Given the description of an element on the screen output the (x, y) to click on. 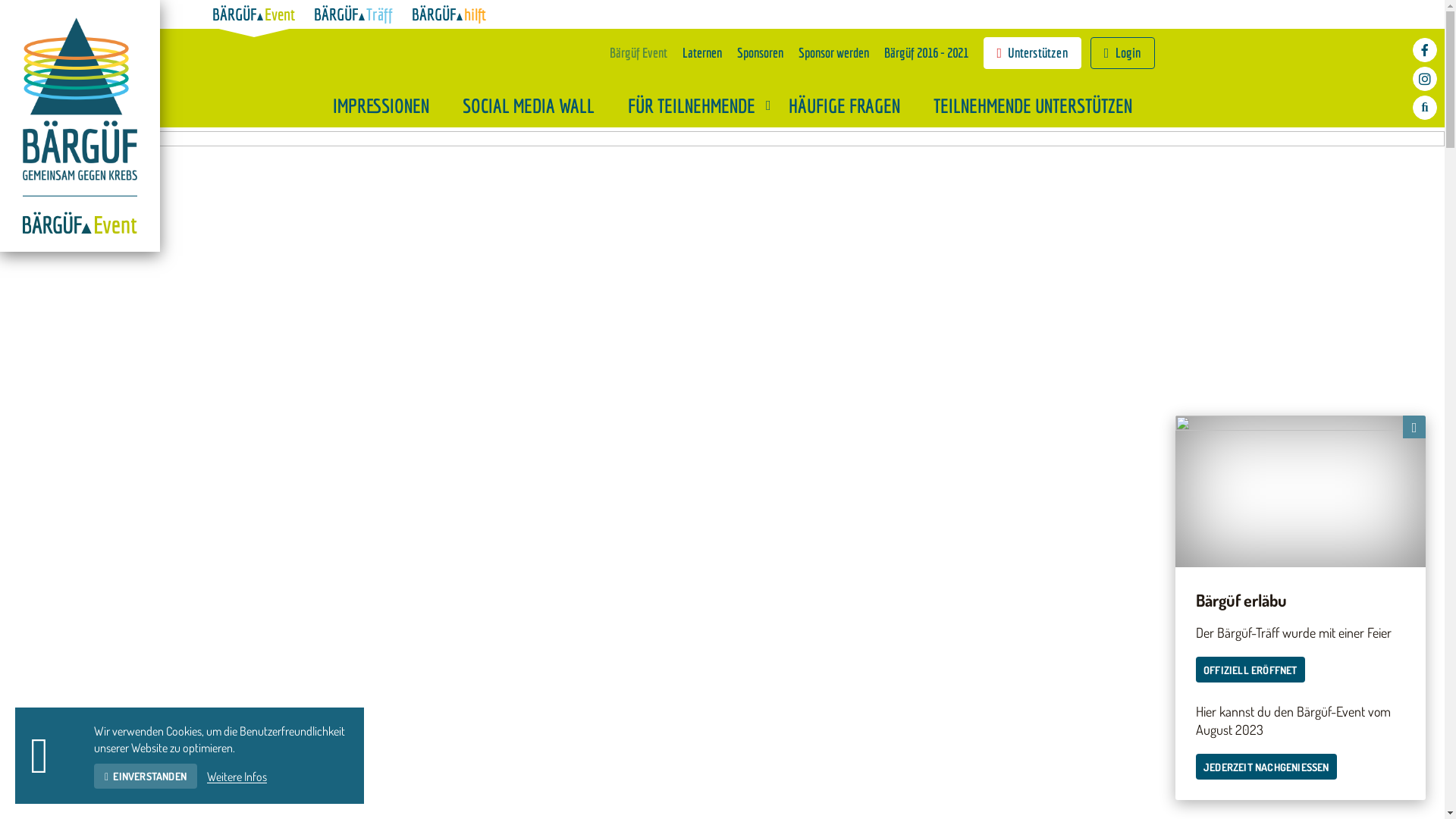
Sponsor werden Element type: text (833, 52)
JEDERZEIT NACHGENIESSEN Element type: text (1265, 766)
Login Element type: text (1122, 53)
Laternen Element type: text (701, 52)
Sponsoren Element type: text (760, 52)
IMPRESSIONEN Element type: text (391, 105)
SOCIAL MEDIA WALL Element type: text (539, 105)
